Given the description of an element on the screen output the (x, y) to click on. 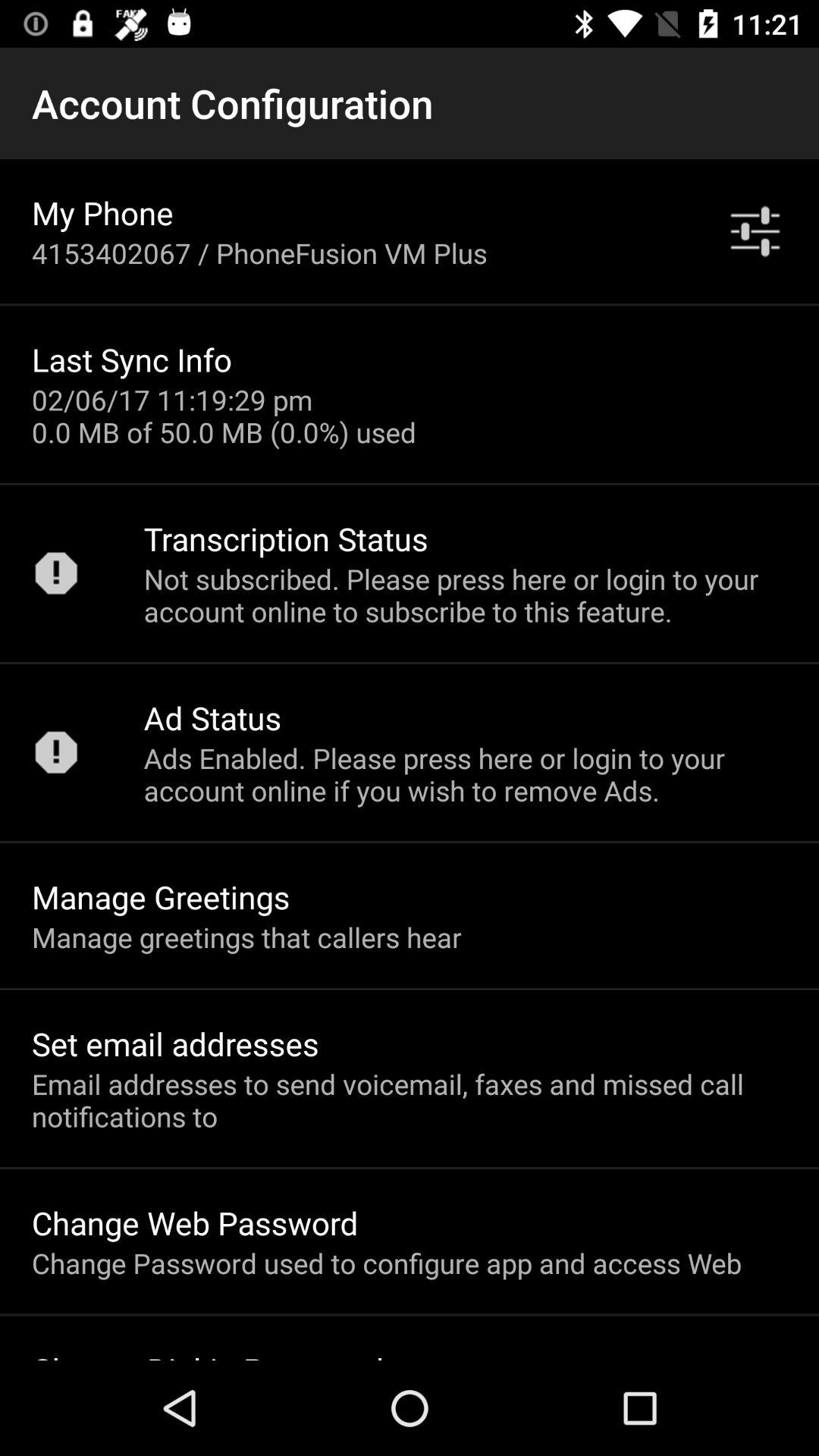
turn off 4153402067 phonefusion vm item (259, 252)
